Given the description of an element on the screen output the (x, y) to click on. 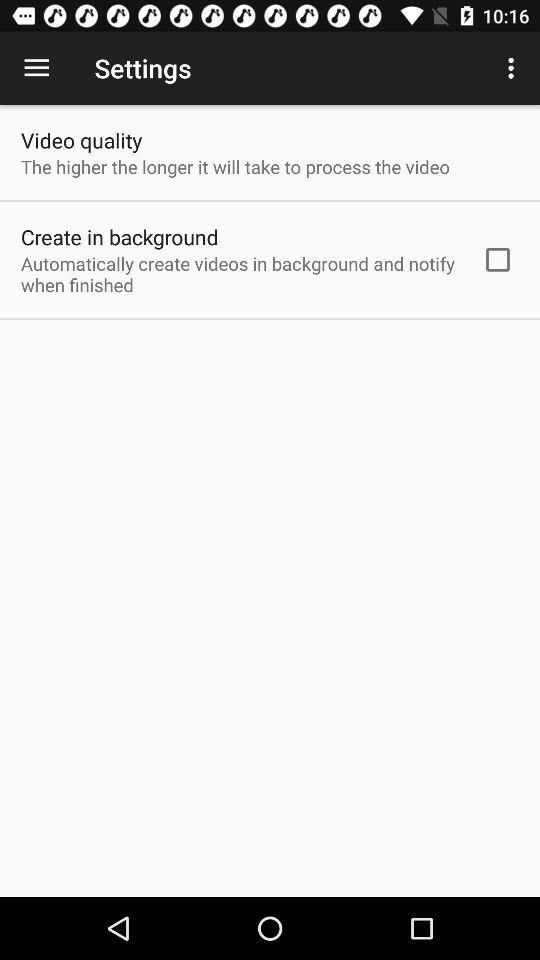
tap the item above create in background (235, 166)
